Given the description of an element on the screen output the (x, y) to click on. 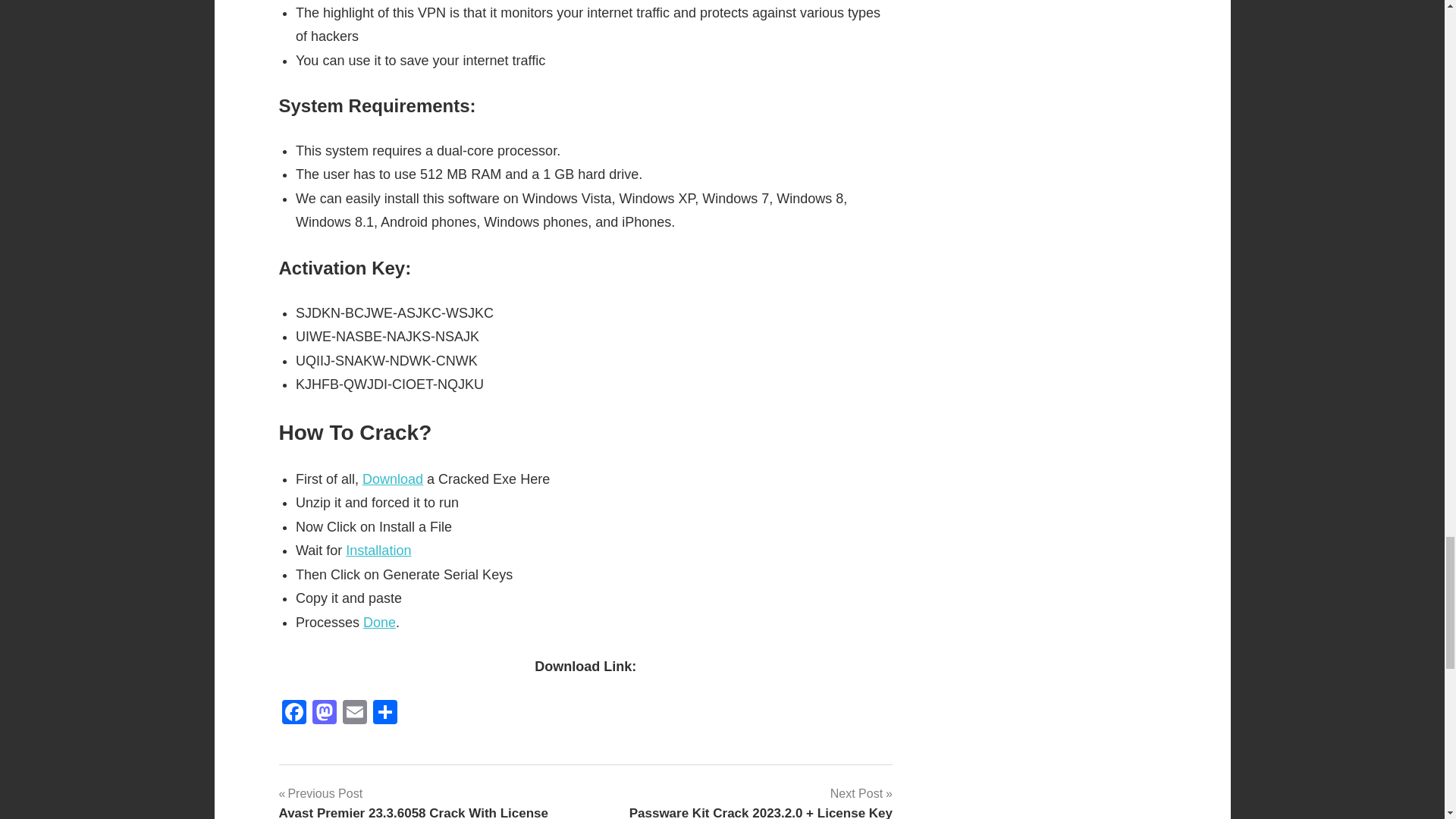
Mastodon (323, 714)
Download (392, 478)
Done (379, 622)
Email (354, 714)
Mastodon (323, 714)
Email (354, 714)
Installation (378, 549)
Facebook (293, 714)
Facebook (293, 714)
